Given the description of an element on the screen output the (x, y) to click on. 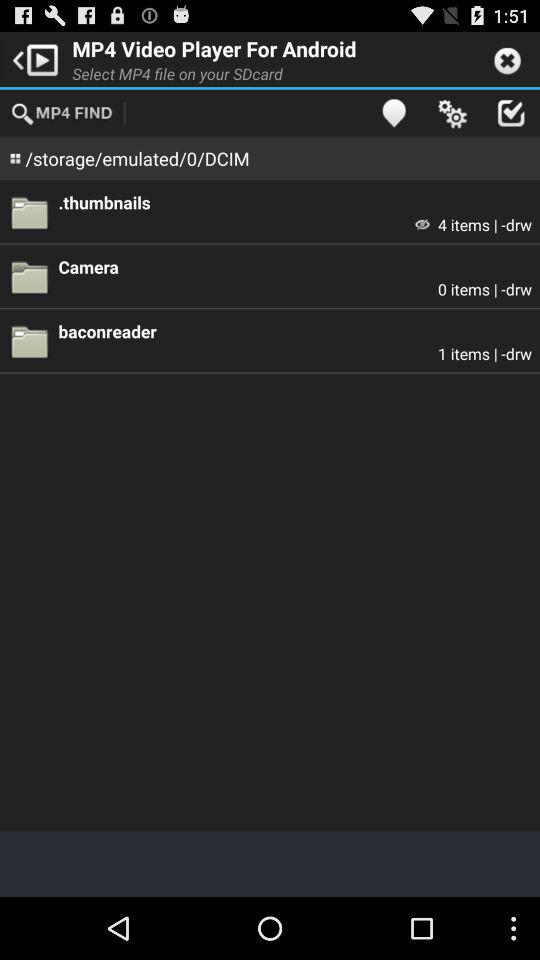
open icon below the .thumbnails icon (422, 224)
